Given the description of an element on the screen output the (x, y) to click on. 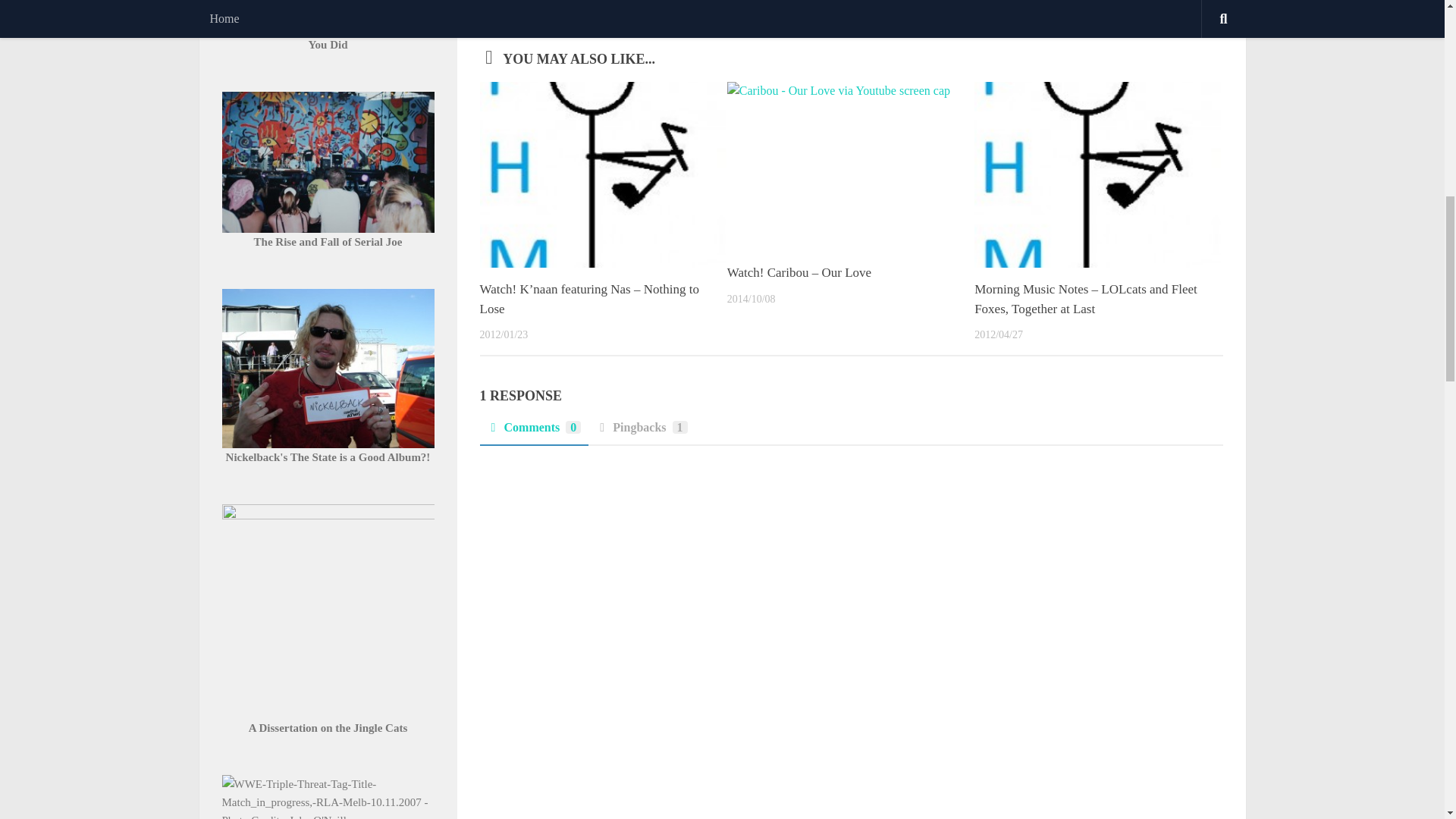
Comments0 (533, 431)
The Rise and Fall of Serial Joe (328, 241)
Pingbacks1 (641, 431)
Mick Jagger (539, 8)
How I Heard Radiohead's Amnesiac Before You Did (327, 35)
The Rolling Stones (610, 8)
